Given the description of an element on the screen output the (x, y) to click on. 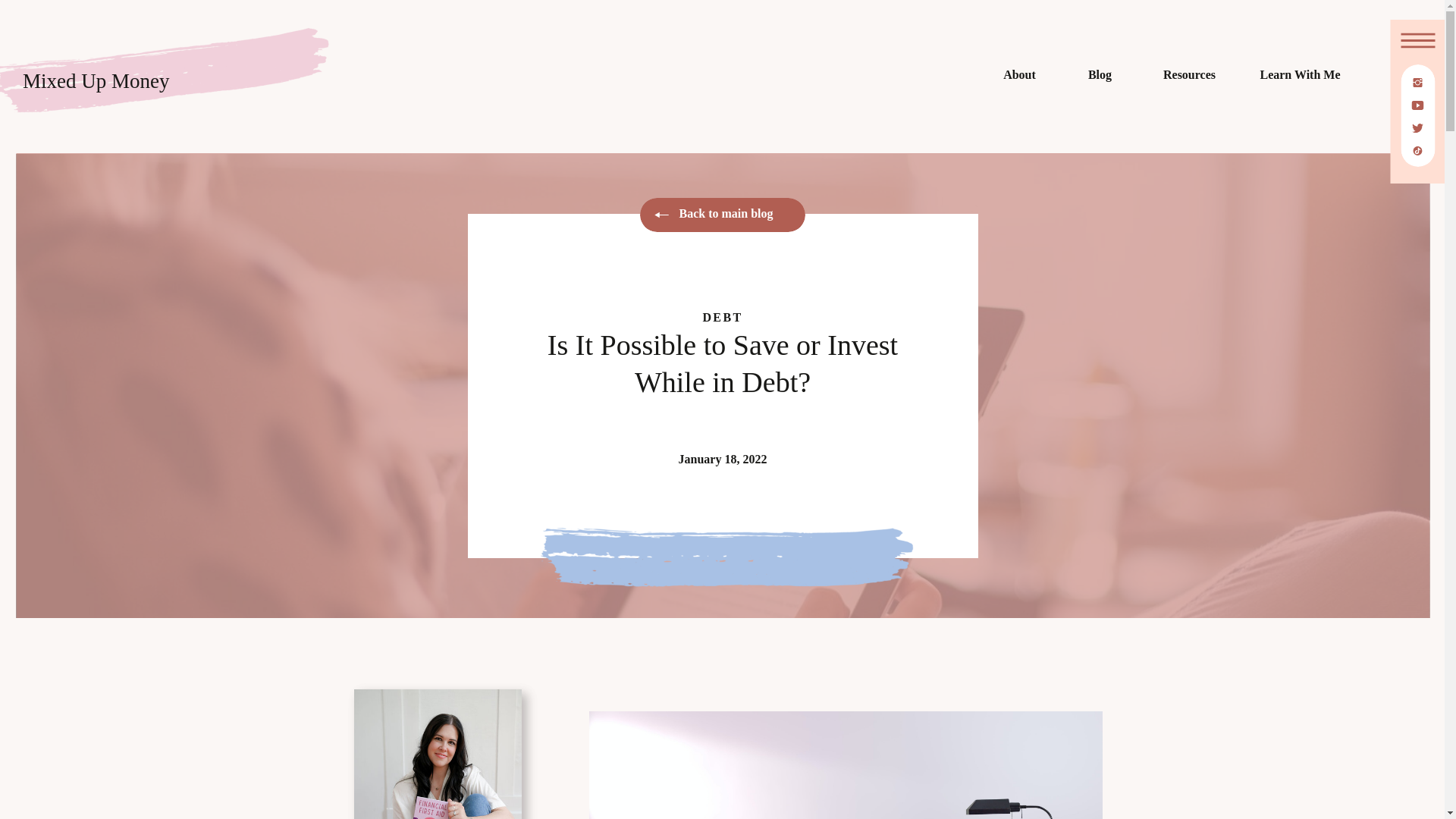
Mixed Up Money (137, 87)
Resources (1189, 76)
Learn With Me (1299, 76)
DEBT (721, 317)
Blog (1099, 76)
Back to main blog (736, 215)
About (1019, 76)
